Given the description of an element on the screen output the (x, y) to click on. 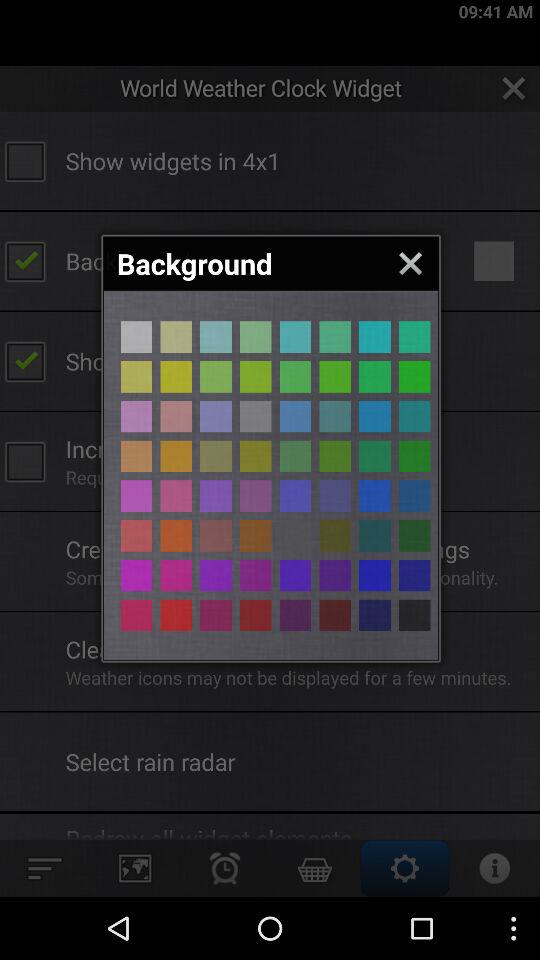
select option (176, 416)
